Given the description of an element on the screen output the (x, y) to click on. 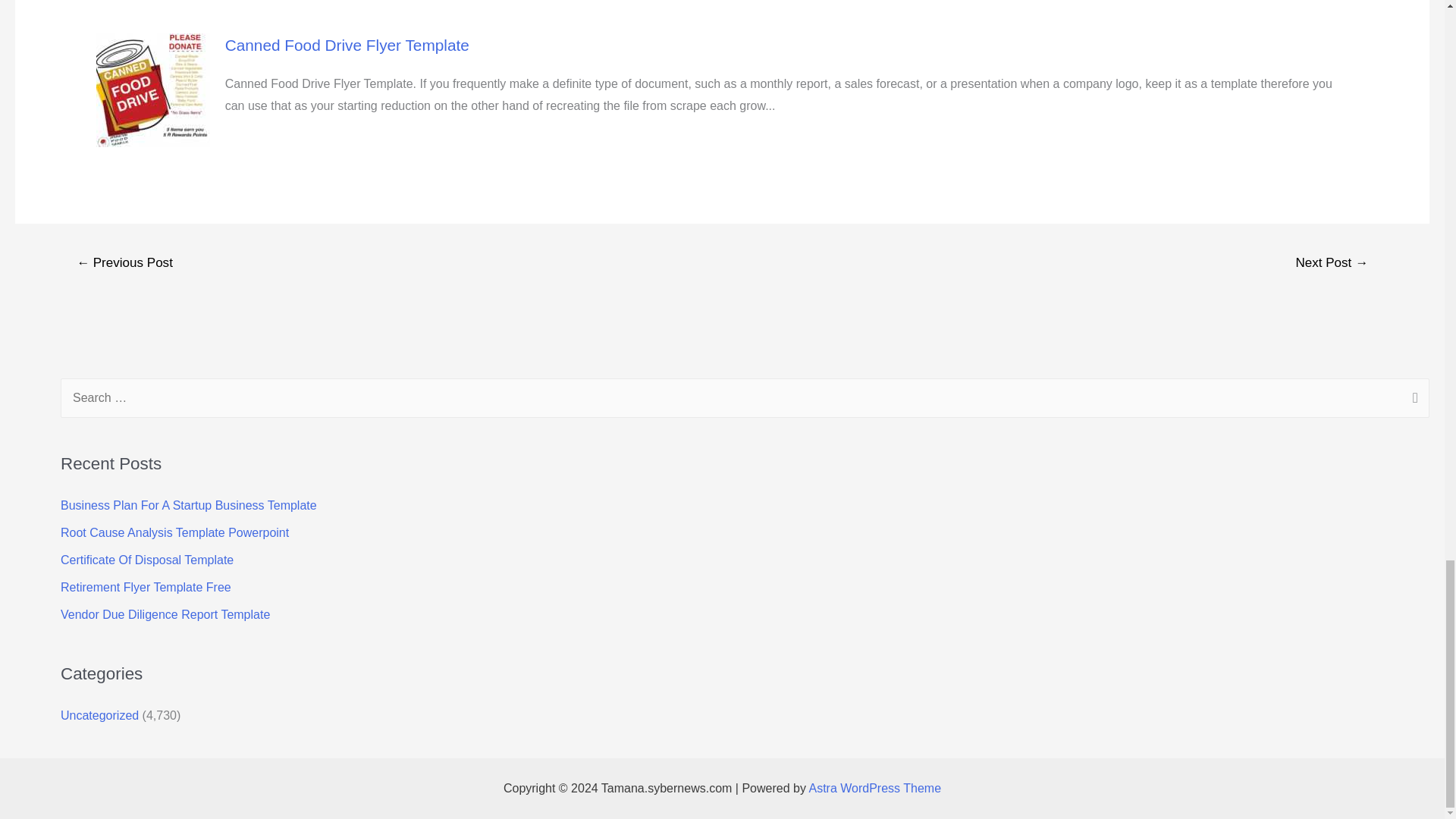
Canned Food Drive Flyer Template (346, 45)
Vendor Due Diligence Report Template (165, 614)
Astra WordPress Theme (874, 788)
Uncategorized (99, 715)
Certificate Of Disposal Template (146, 559)
Retirement Flyer Template Free (146, 586)
Root Cause Analysis Template Powerpoint (174, 532)
Business Plan For A Startup Business Template (189, 504)
